Given the description of an element on the screen output the (x, y) to click on. 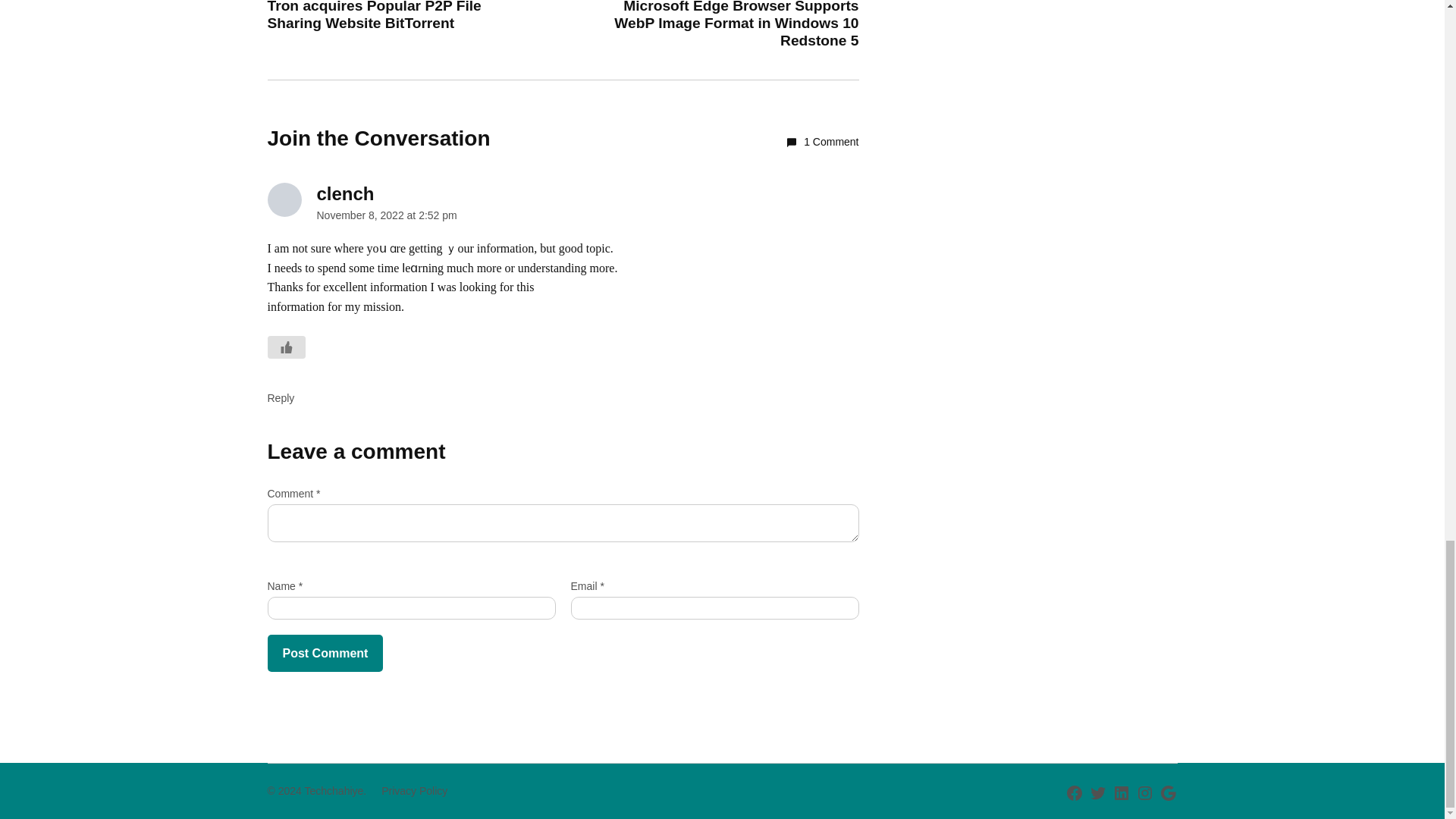
November 8, 2022 at 2:52 pm (387, 215)
Post Comment (324, 653)
